Given the description of an element on the screen output the (x, y) to click on. 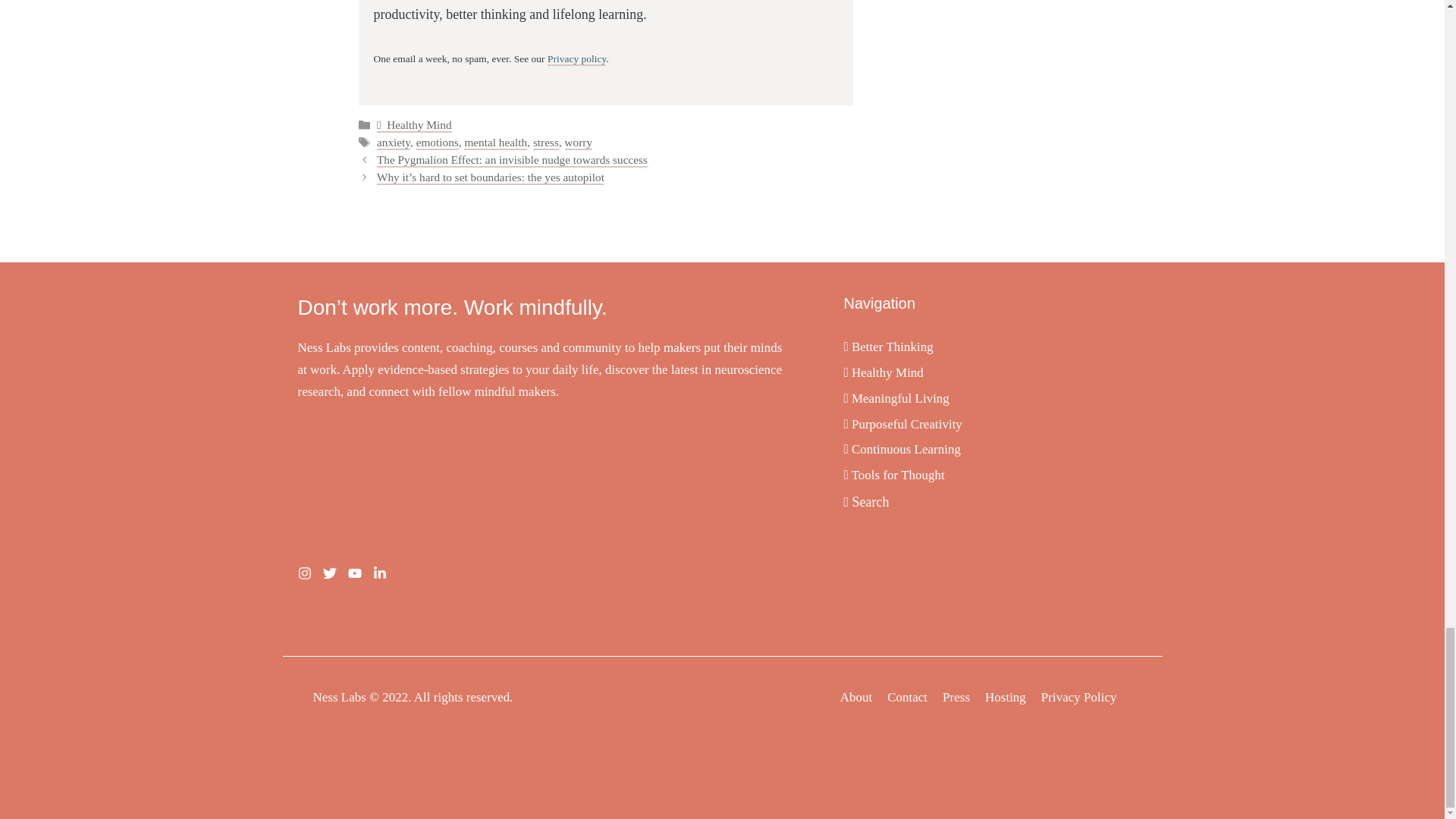
stress (545, 142)
anxiety (393, 142)
worry (578, 142)
Privacy policy (576, 59)
emotions (437, 142)
The Pygmalion Effect: an invisible nudge towards success (512, 160)
mental health (495, 142)
